Given the description of an element on the screen output the (x, y) to click on. 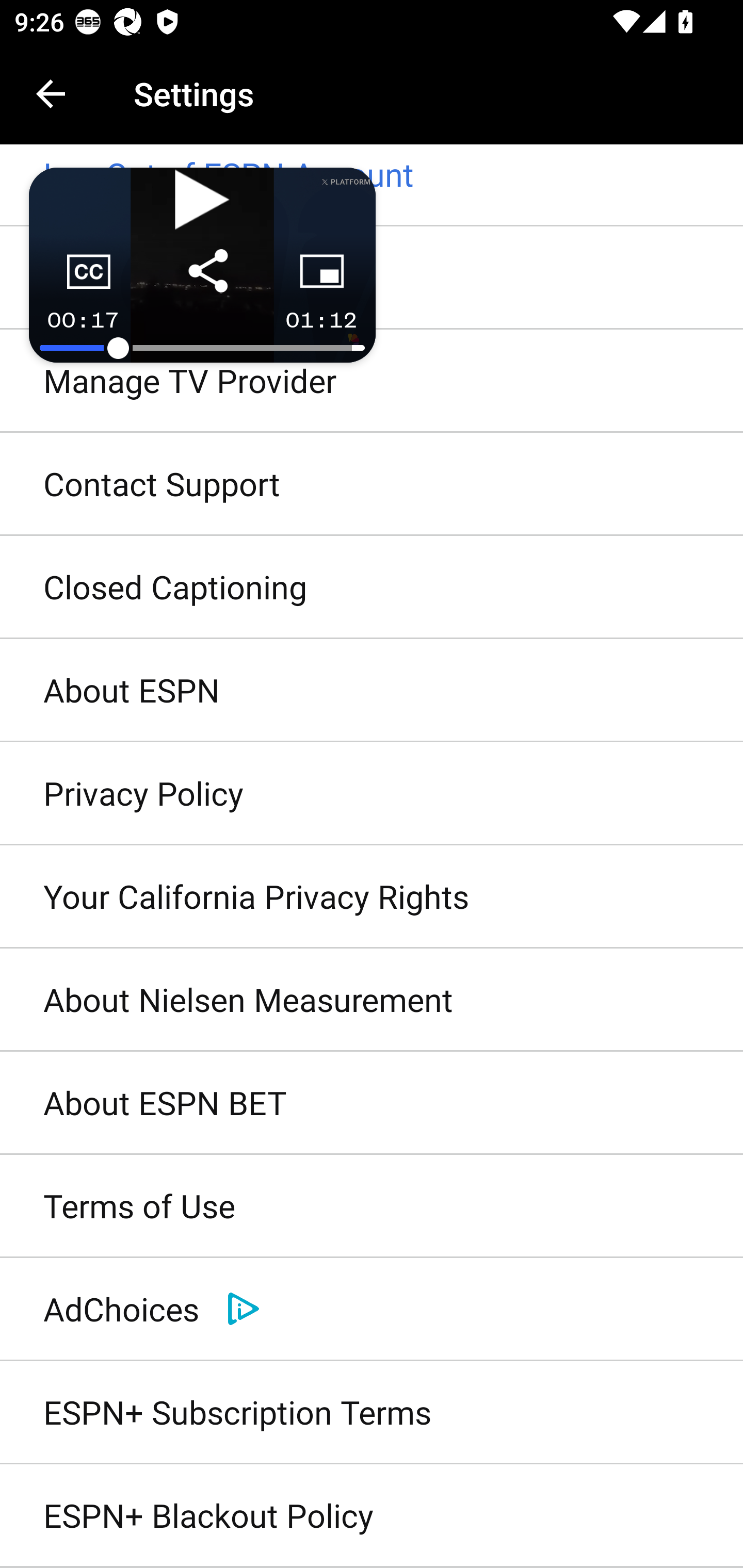
Navigate up (50, 93)
Manage TV Provider (371, 380)
Contact Support (371, 484)
Closed Captioning (371, 587)
About ESPN (371, 691)
Privacy Policy (371, 793)
Your California Privacy Rights (371, 896)
About Nielsen Measurement (371, 1000)
About ESPN BET (371, 1103)
Terms of Use (371, 1207)
AdChoices (371, 1309)
ESPN+ Subscription Terms (371, 1412)
ESPN+ Blackout Policy (371, 1516)
